Given the description of an element on the screen output the (x, y) to click on. 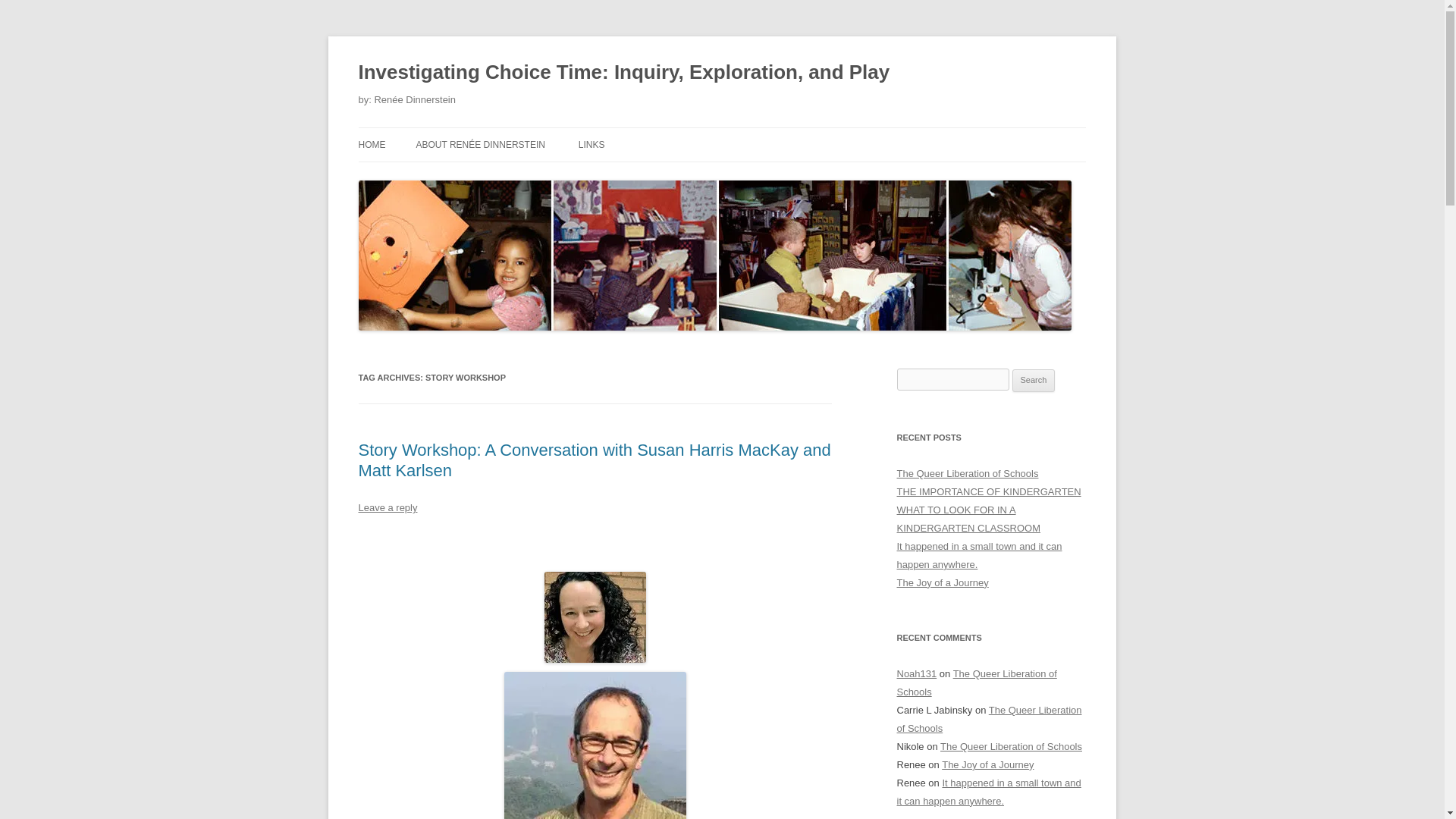
The Joy of a Journey (987, 764)
It happened in a small town and it can happen anywhere. (988, 791)
Leave a reply (387, 507)
The Joy of a Journey (942, 582)
The Queer Liberation of Schools (967, 473)
Noah131 (916, 673)
WHAT TO LOOK FOR IN A KINDERGARTEN CLASSROOM (968, 518)
It happened in a small town and it can happen anywhere. (978, 555)
Search (1033, 380)
